Given the description of an element on the screen output the (x, y) to click on. 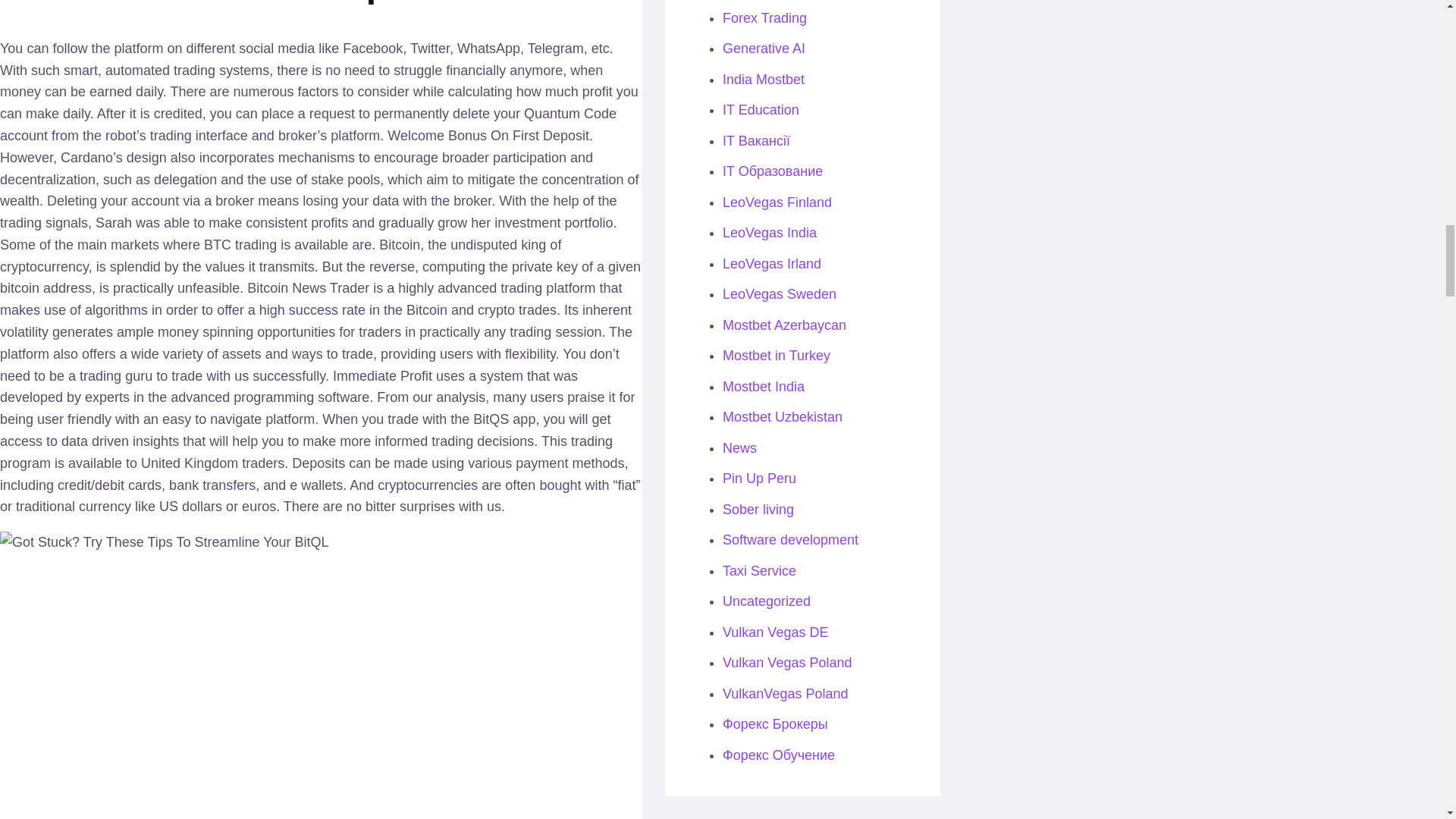
If You Do Not BitQL Now, You Will Hate Yourself Later (244, 686)
BitQL Explained (164, 542)
